Given the description of an element on the screen output the (x, y) to click on. 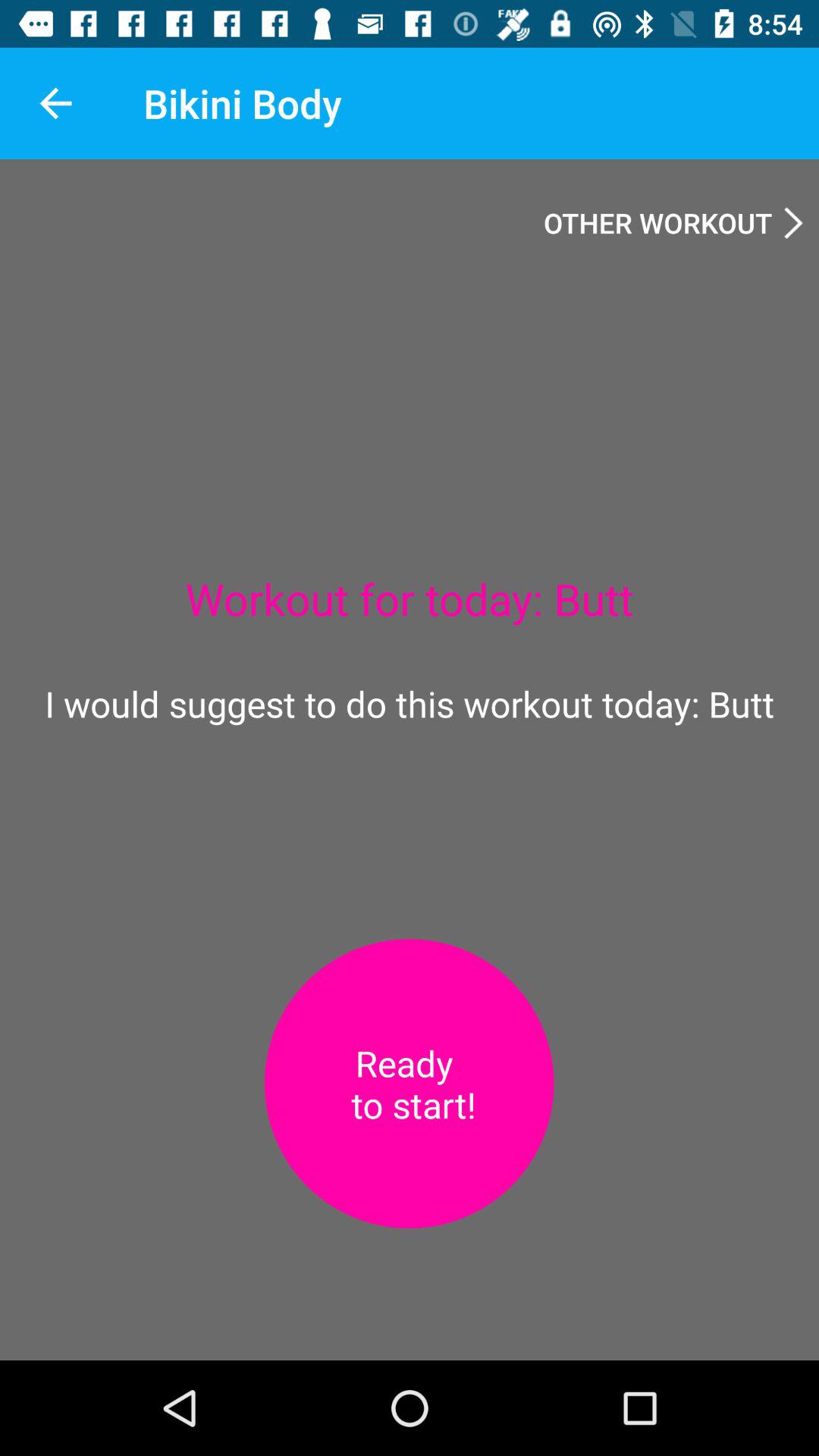
click the item at the top right corner (673, 222)
